Given the description of an element on the screen output the (x, y) to click on. 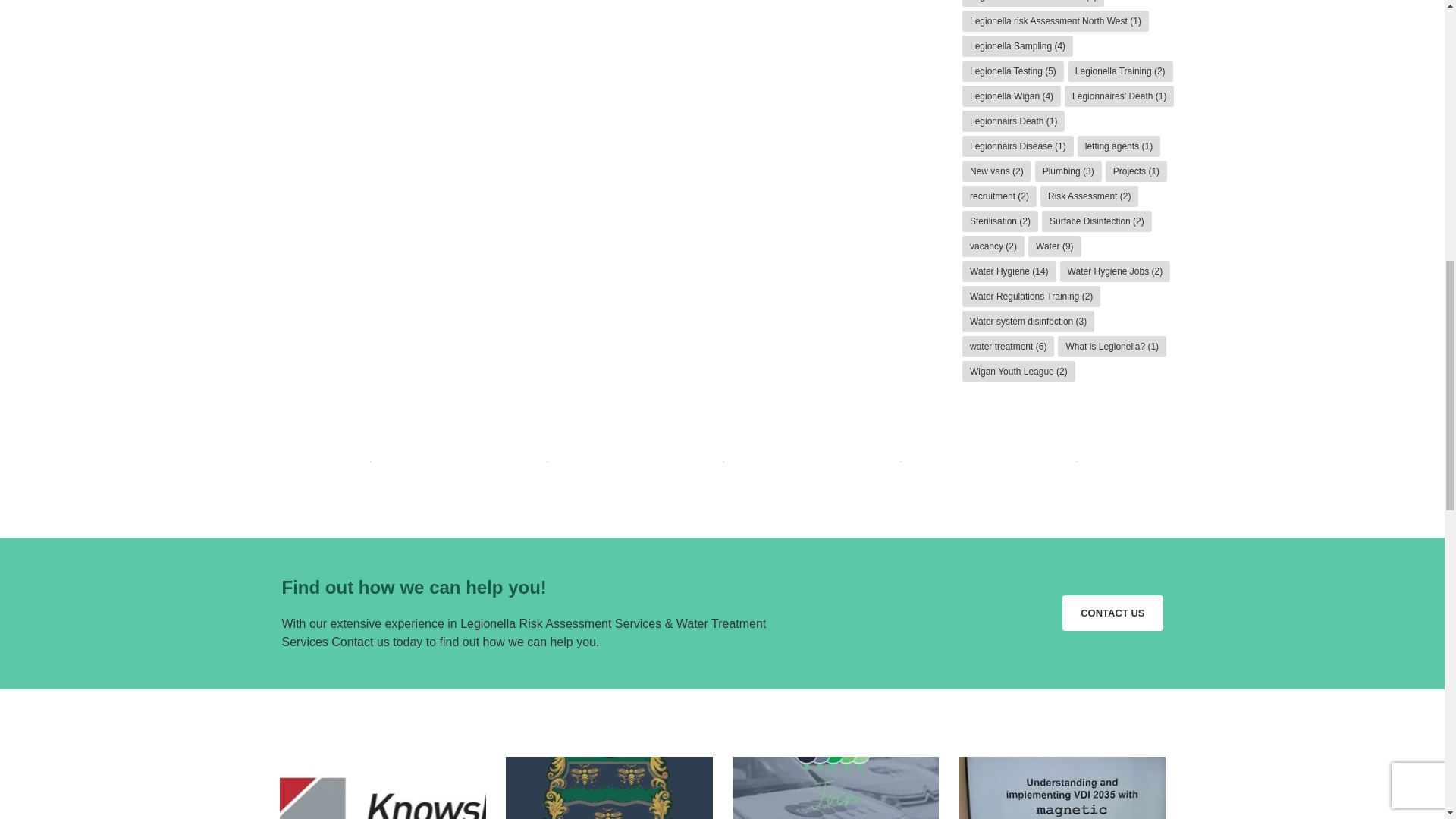
VDI 2035 Training (1062, 787)
Recruitment Drive 2024! (835, 787)
Contract Win News! (382, 787)
Contract Win! (609, 787)
